Given the description of an element on the screen output the (x, y) to click on. 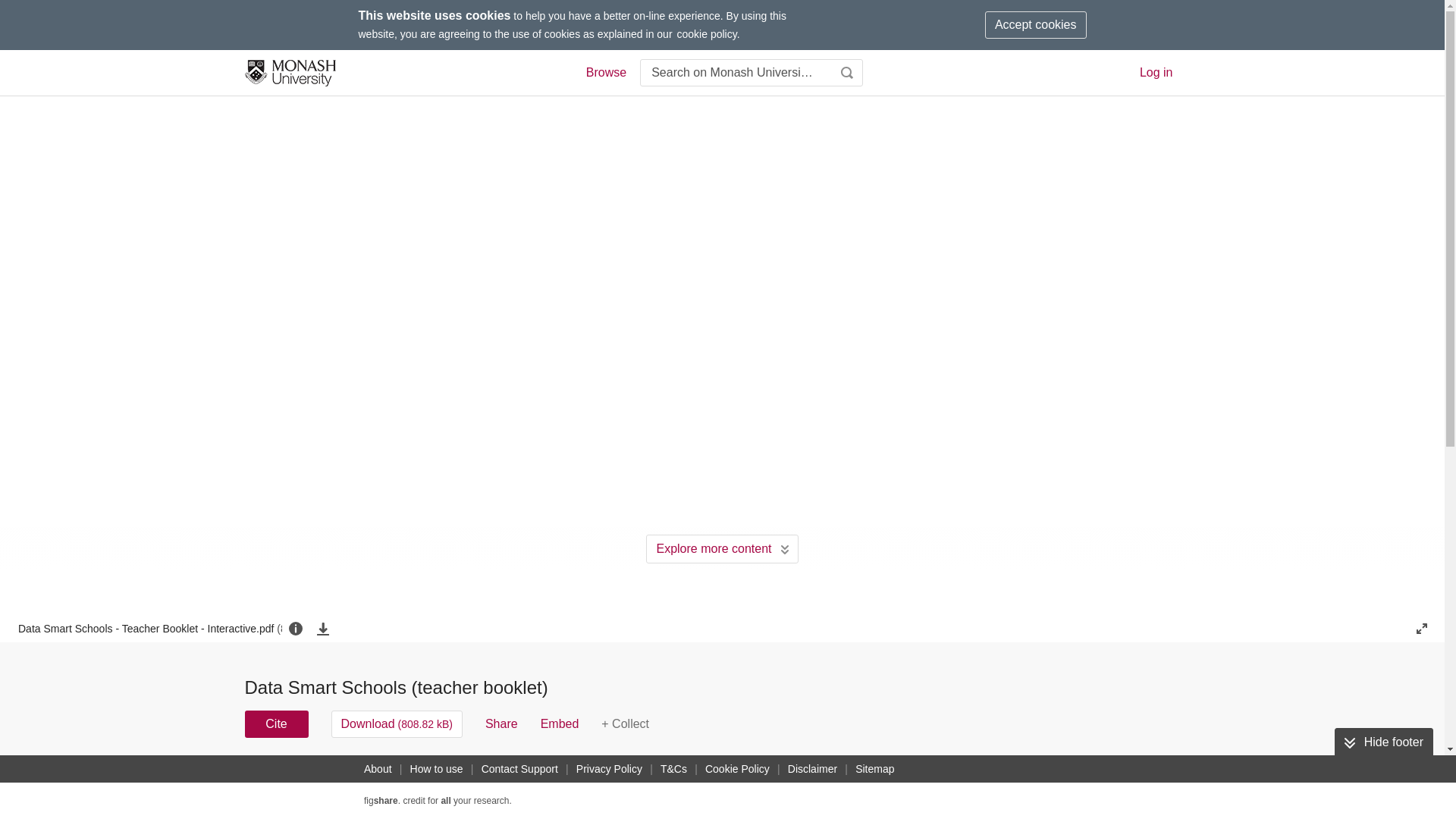
Neil Selwyn (808, 773)
you need to log in first (625, 723)
Hide footer (1383, 742)
Log in (1156, 72)
Browse (605, 72)
Data Smart Schools - Teacher Booklet - Interactive.pdf (149, 628)
About (377, 769)
Embed (559, 723)
Explore more content (721, 548)
Accept cookies (1035, 24)
Luci Pangrazio (632, 773)
USAGE METRICS (976, 778)
Cite (275, 723)
cookie policy (706, 33)
